Given the description of an element on the screen output the (x, y) to click on. 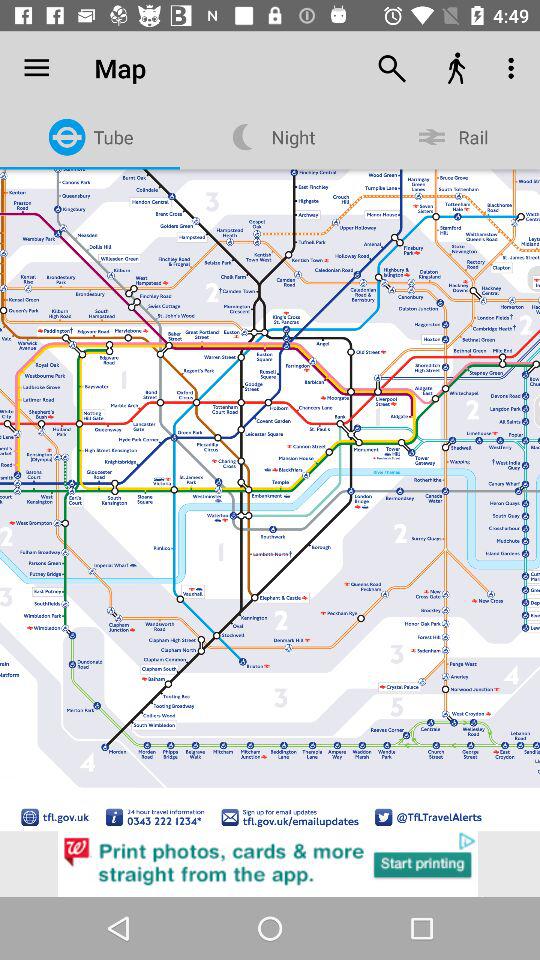
tap the item to the left of tube icon (36, 68)
